Given the description of an element on the screen output the (x, y) to click on. 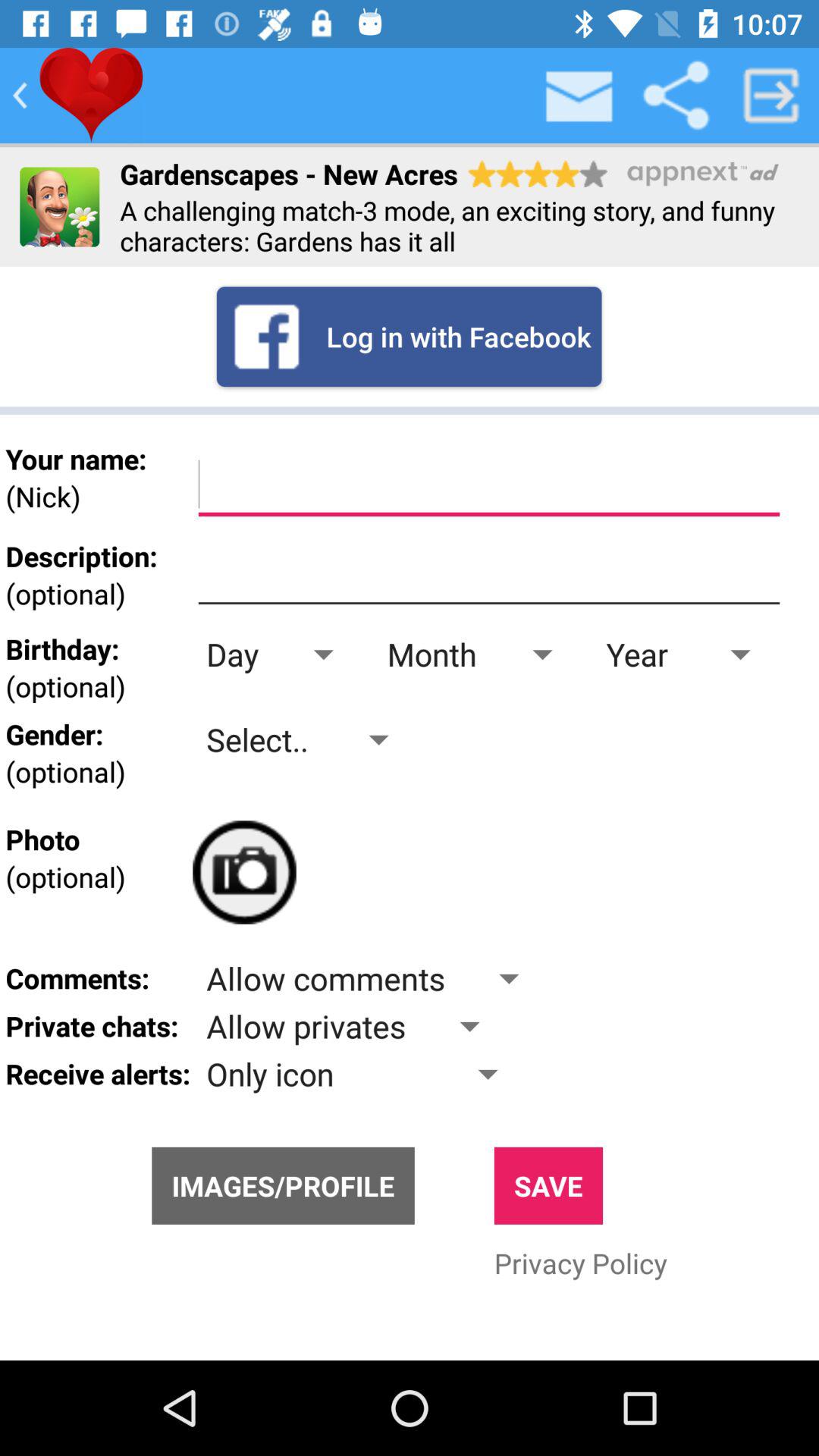
enter name (488, 485)
